Given the description of an element on the screen output the (x, y) to click on. 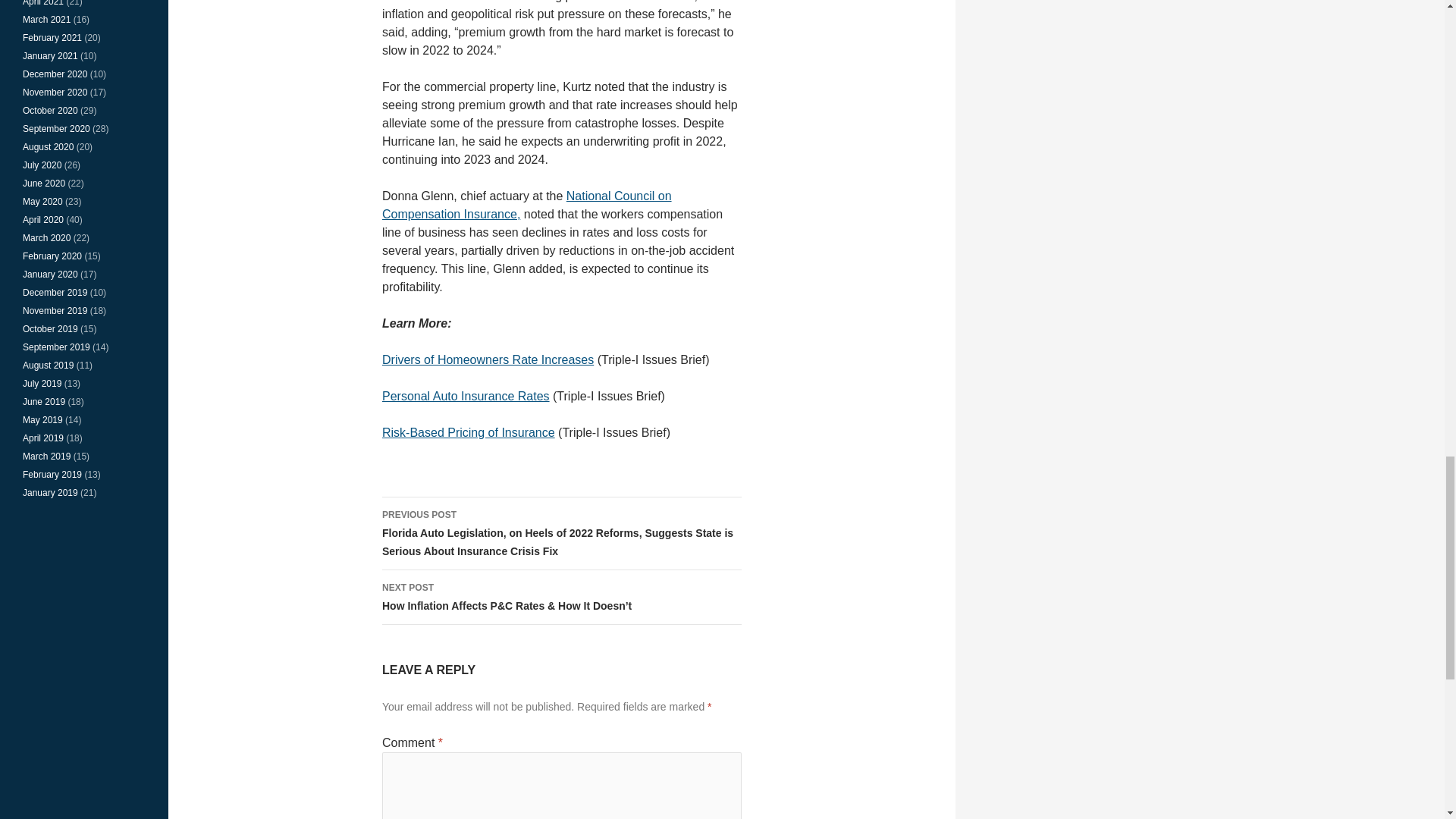
Personal Auto Insurance Rates (465, 395)
Drivers of Homeowners Rate Increases (487, 359)
Risk-Based Pricing of Insurance (467, 431)
National Council on Compensation Insurance, (526, 204)
